Given the description of an element on the screen output the (x, y) to click on. 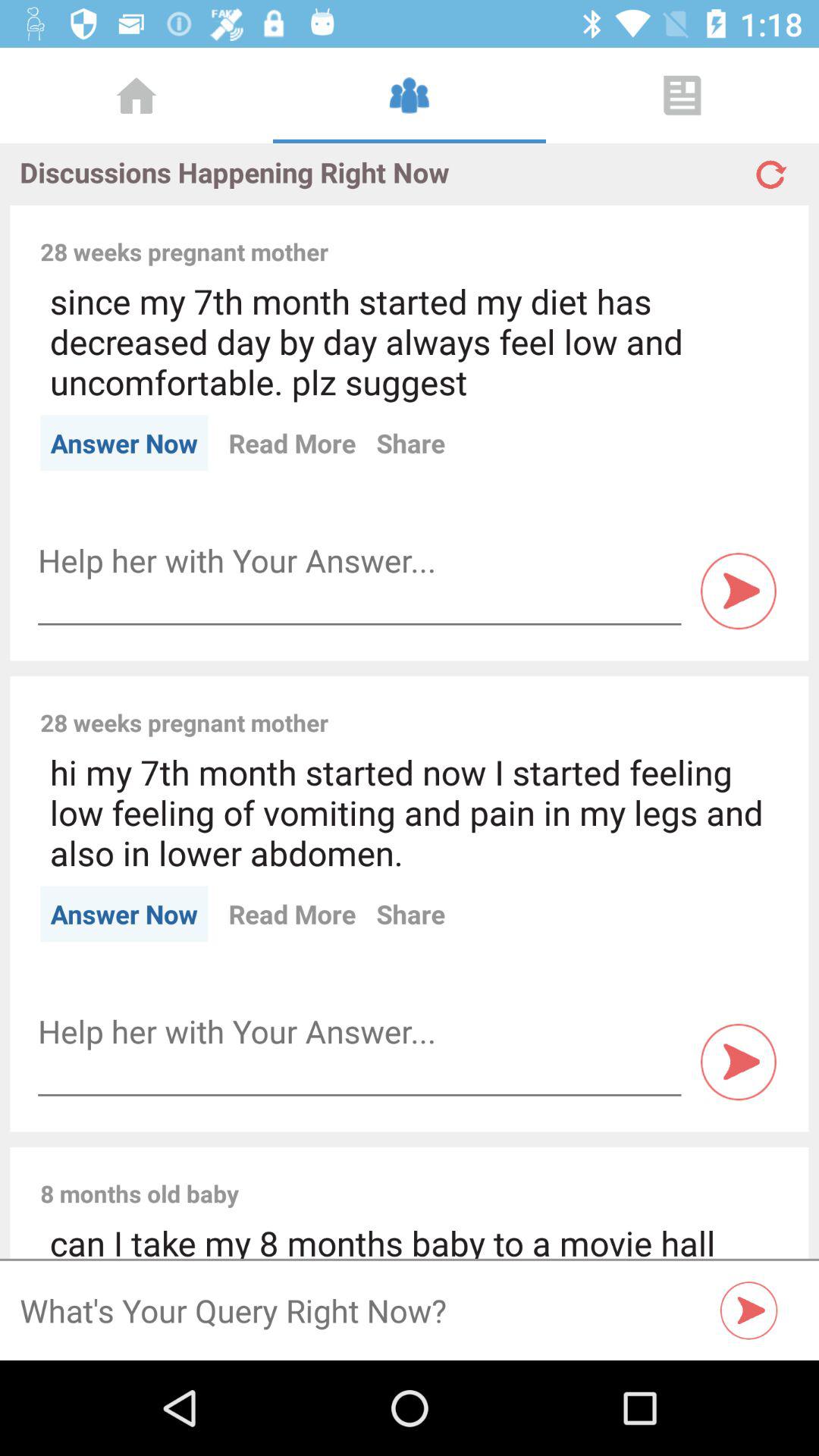
click icon to the right of the 28 weeks pregnant icon (563, 235)
